Given the description of an element on the screen output the (x, y) to click on. 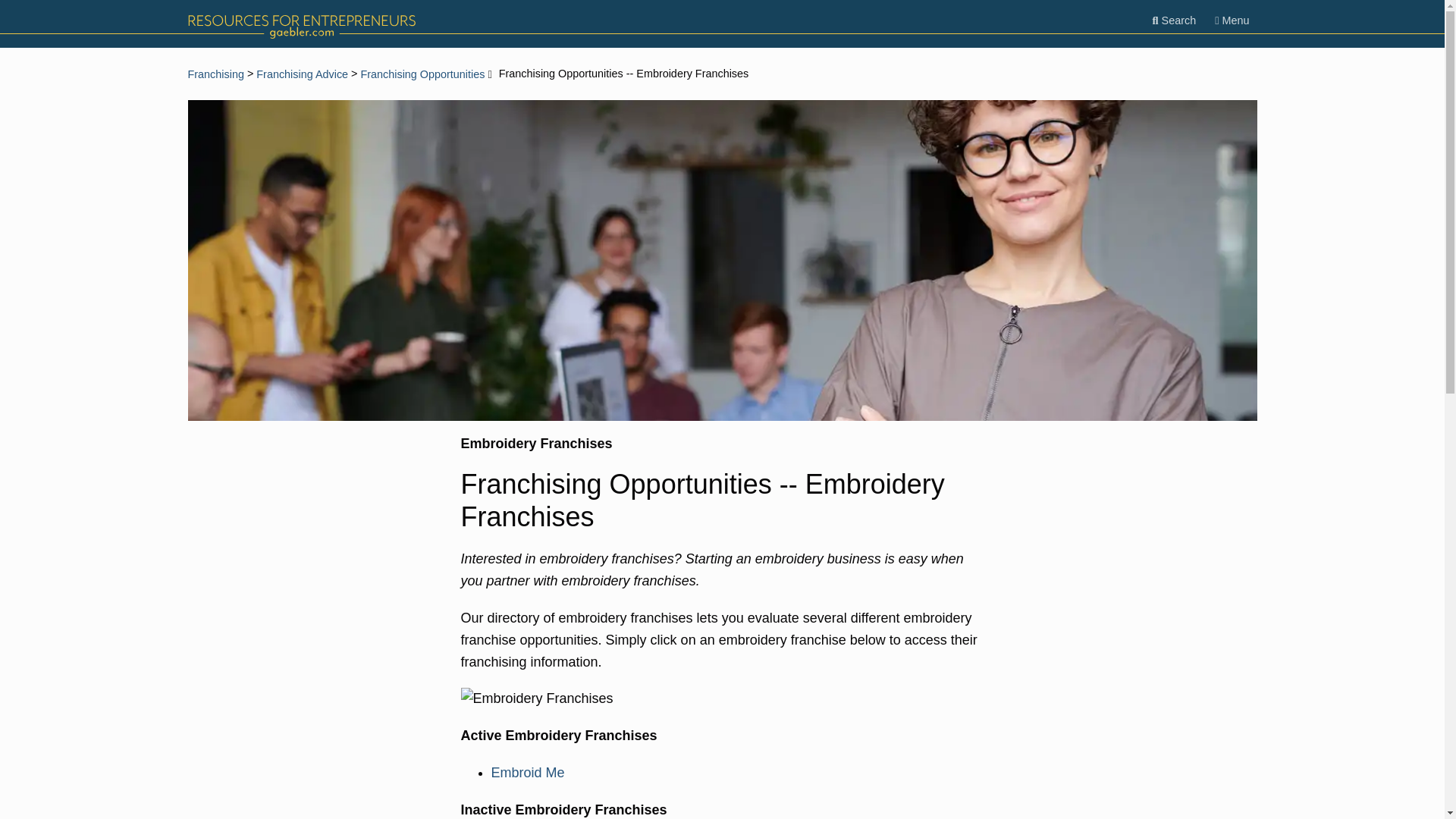
Menu (1231, 20)
Search (1174, 20)
